Given the description of an element on the screen output the (x, y) to click on. 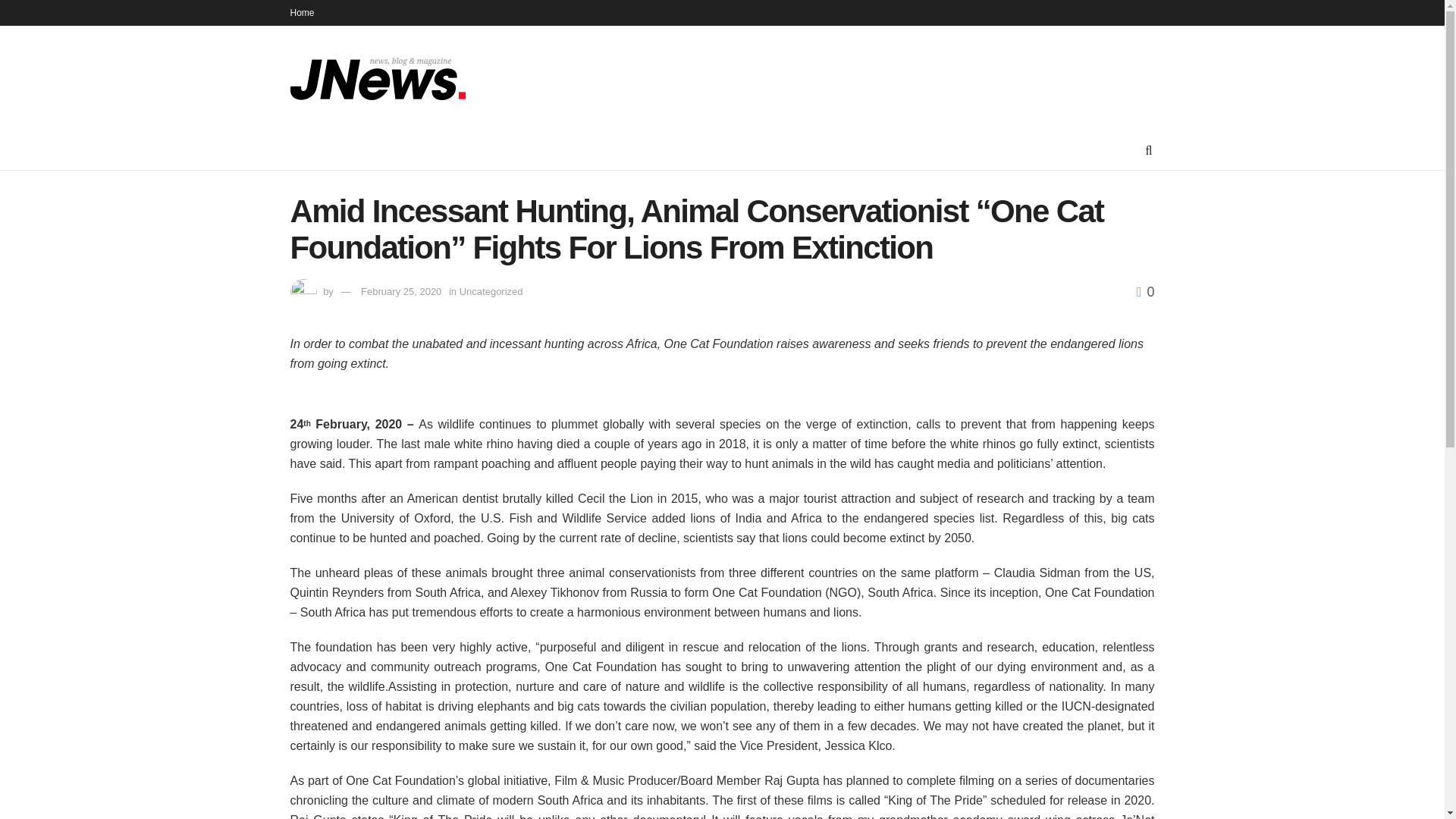
Home (301, 12)
0 (1145, 291)
February 25, 2020 (401, 291)
